Given the description of an element on the screen output the (x, y) to click on. 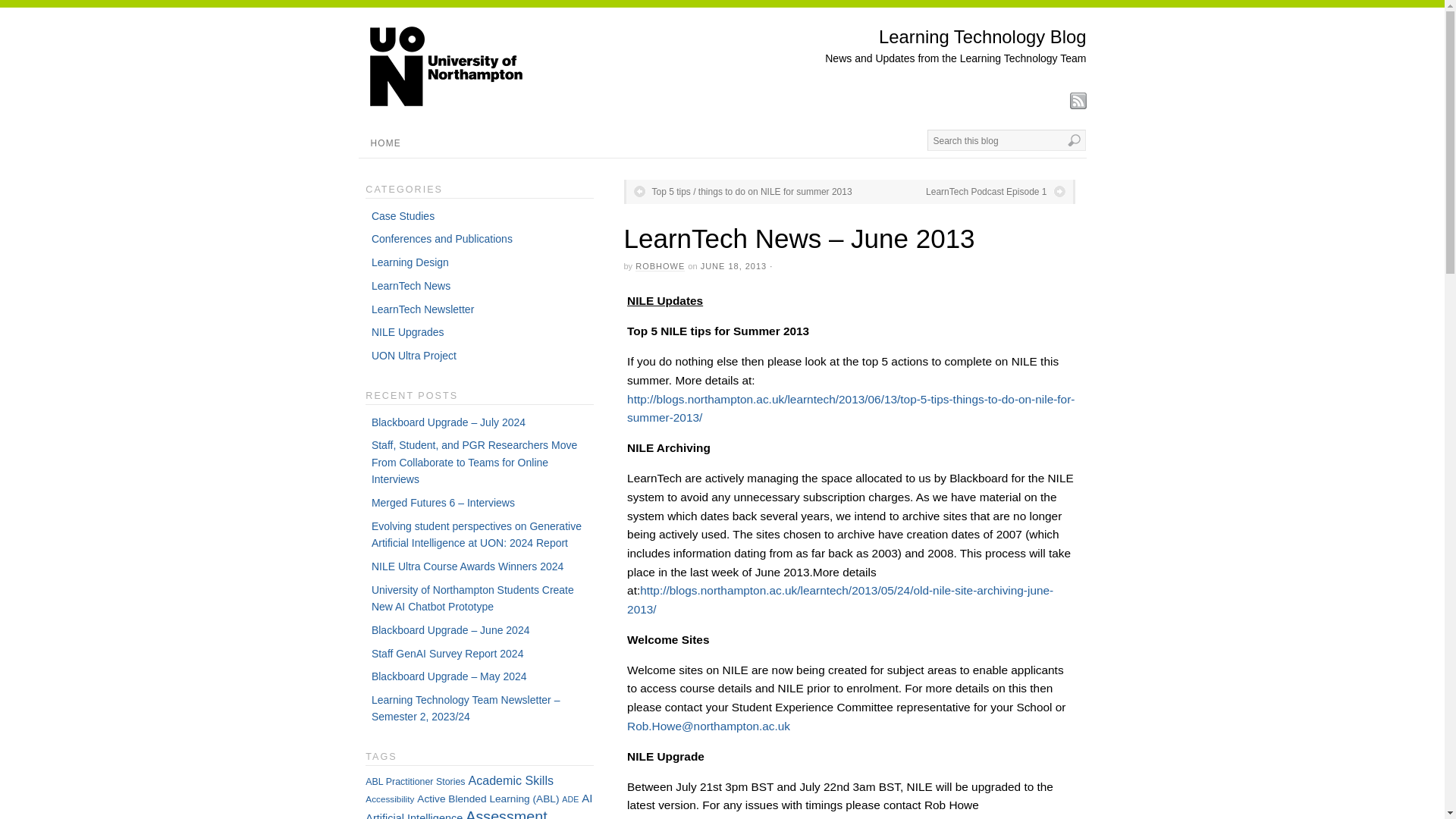
Learning Design (409, 262)
ROBHOWE (659, 266)
HOME (385, 143)
Home (982, 36)
Case Studies (402, 215)
Search this blog (1005, 139)
Posts by robhowe (659, 266)
NILE Ultra Course Awards Winners 2024 (467, 566)
Learning Technology Blog (982, 36)
Search this blog (1005, 139)
Staff GenAI Survey Report 2024 (447, 653)
NILE Upgrades (407, 331)
UON Ultra Project (414, 355)
LearnTech Newsletter (422, 309)
